Given the description of an element on the screen output the (x, y) to click on. 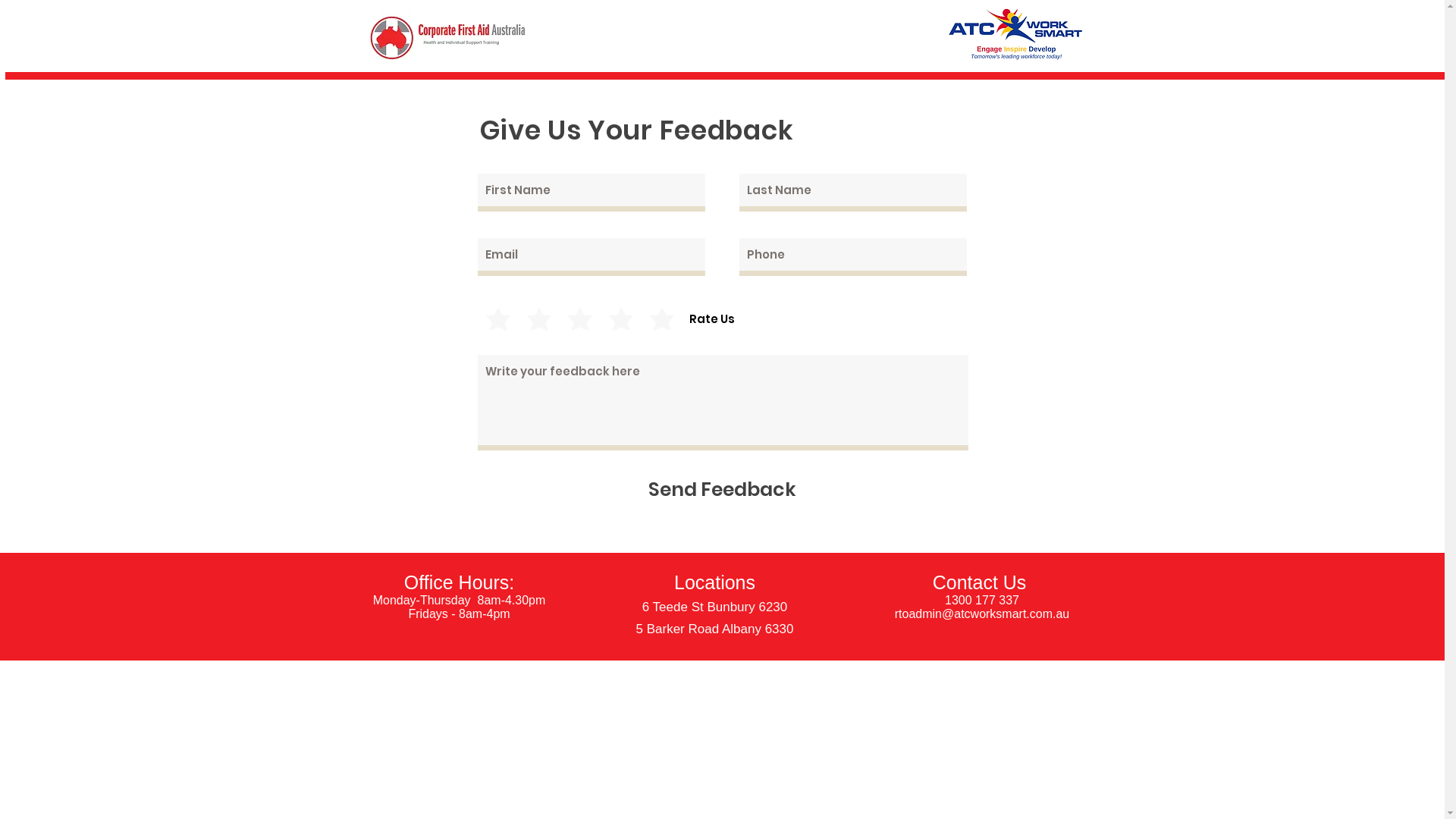
Send Feedback Element type: text (721, 489)
rtoadmin@atcworksmart.com.au Element type: text (982, 613)
Engage, Inspire, Develop V3 png.png Element type: hover (1014, 34)
